Given the description of an element on the screen output the (x, y) to click on. 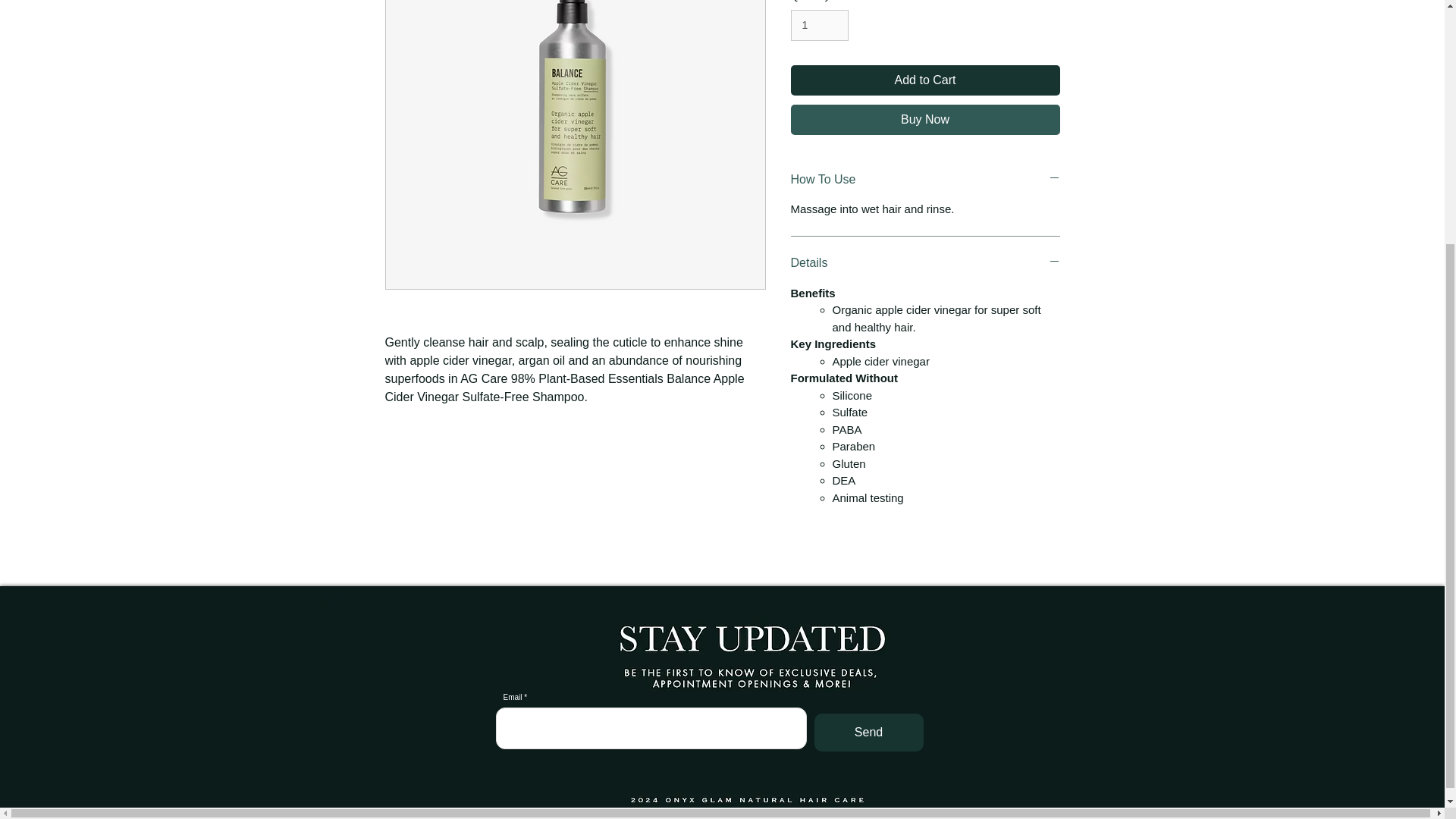
1 (818, 24)
Buy Now (924, 119)
Send (868, 732)
Add to Cart (924, 79)
Details (924, 262)
How To Use (924, 178)
